Given the description of an element on the screen output the (x, y) to click on. 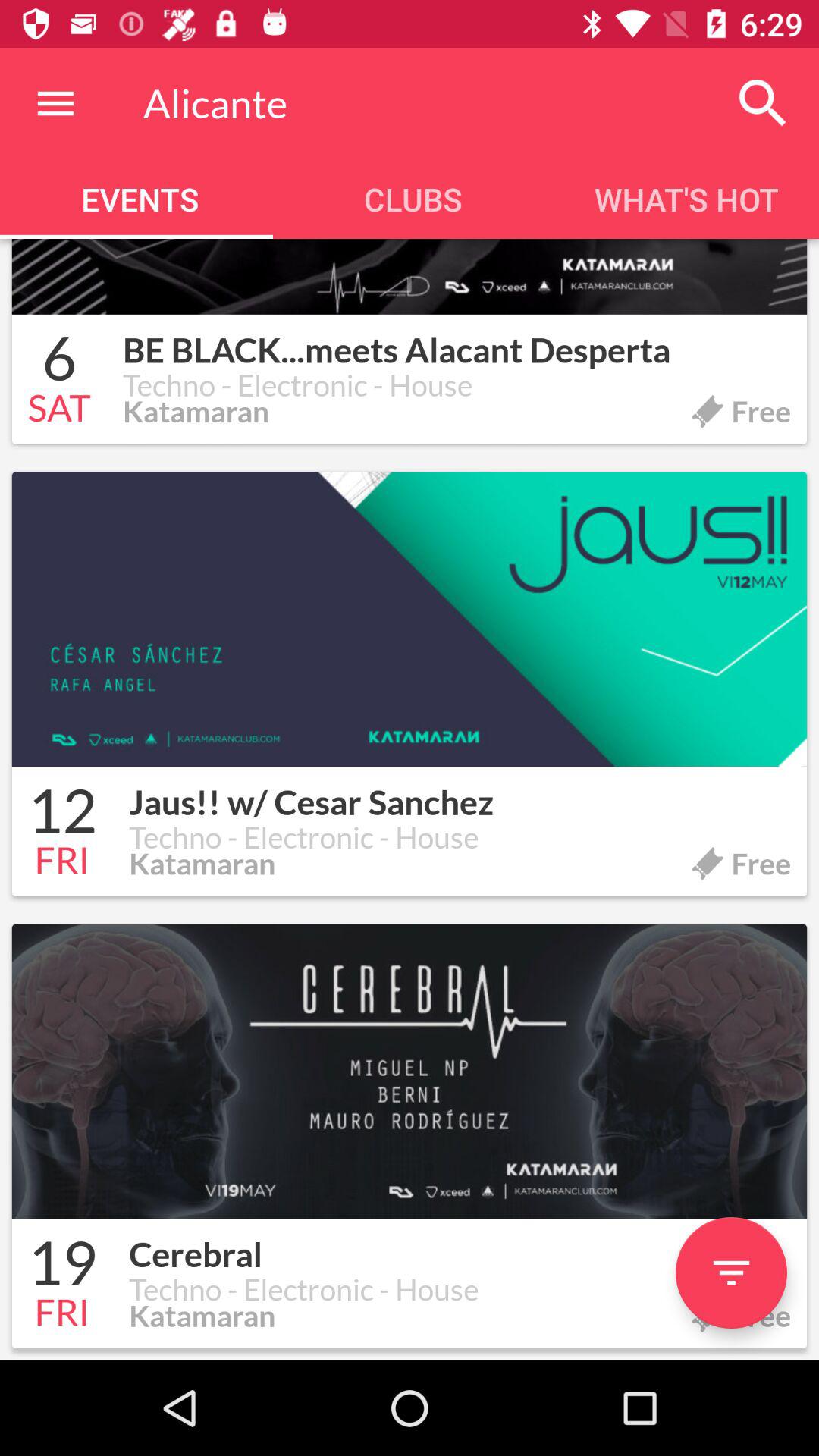
turn off item above the fri icon (62, 813)
